Given the description of an element on the screen output the (x, y) to click on. 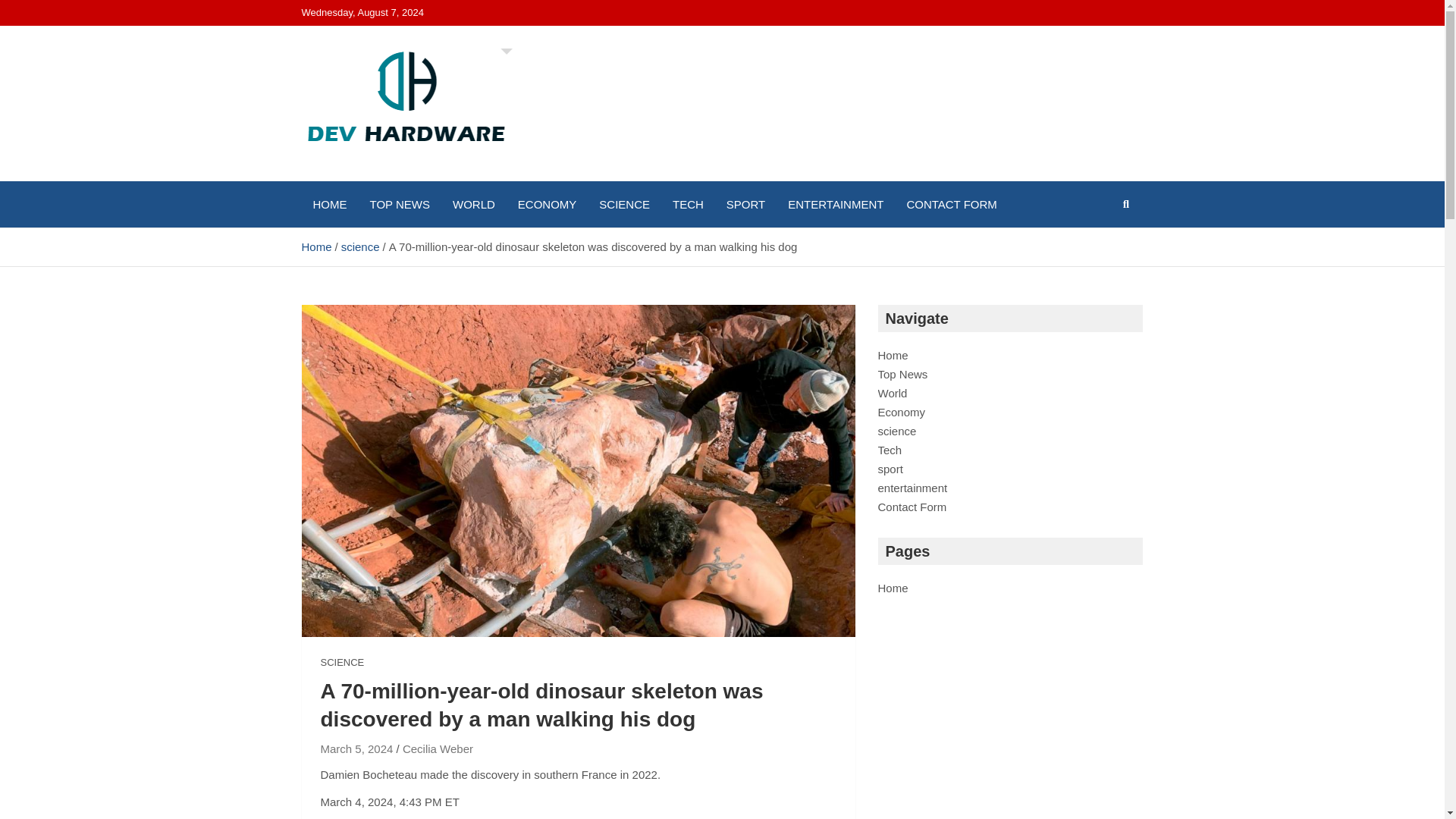
TOP NEWS (399, 203)
Home (892, 354)
Home (892, 587)
Contact Form (912, 506)
SCIENCE (624, 203)
Cecilia Weber (438, 748)
SPORT (745, 203)
ENTERTAINMENT (835, 203)
SCIENCE (342, 662)
ECONOMY (547, 203)
CONTACT FORM (951, 203)
Top News (902, 373)
World (892, 392)
March 5, 2024 (356, 748)
Dev Hardware (402, 177)
